Given the description of an element on the screen output the (x, y) to click on. 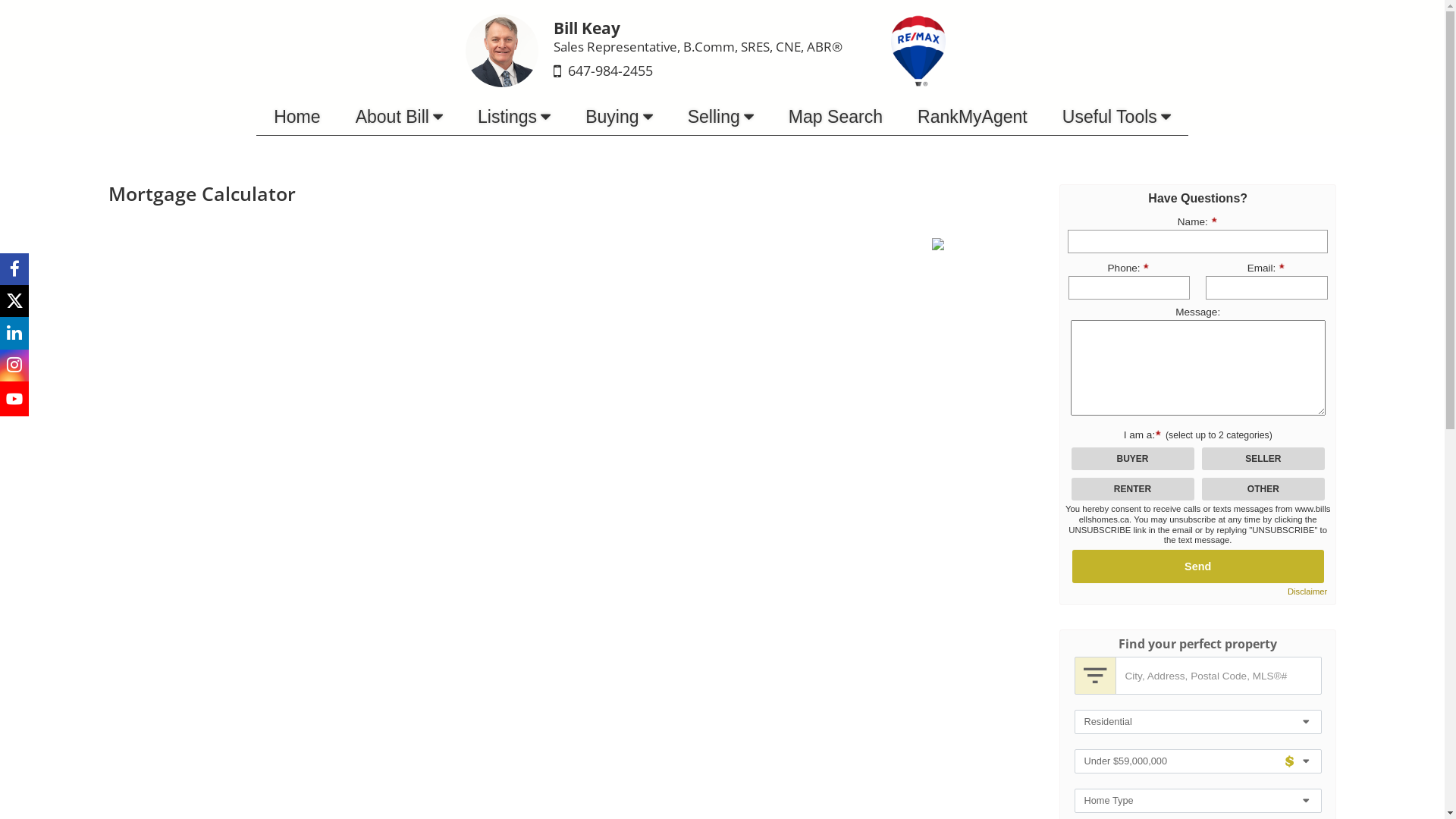
Home Type Element type: text (1197, 800)
647-984-2455 Element type: text (609, 70)
Under $59,000,000 Element type: text (1197, 761)
Residential Element type: text (1197, 721)
Send Element type: text (1198, 566)
Buying Element type: text (618, 116)
About Bill Element type: text (399, 116)
Selling Element type: text (720, 116)
BUYER Element type: text (4, 4)
Search by Element type: text (1094, 675)
Useful Tools Element type: text (1116, 116)
Map Search Element type: text (835, 116)
RankMyAgent Element type: text (972, 116)
Home Element type: text (297, 116)
Disclaimer Element type: text (1307, 591)
Listings Element type: text (513, 116)
